Given the description of an element on the screen output the (x, y) to click on. 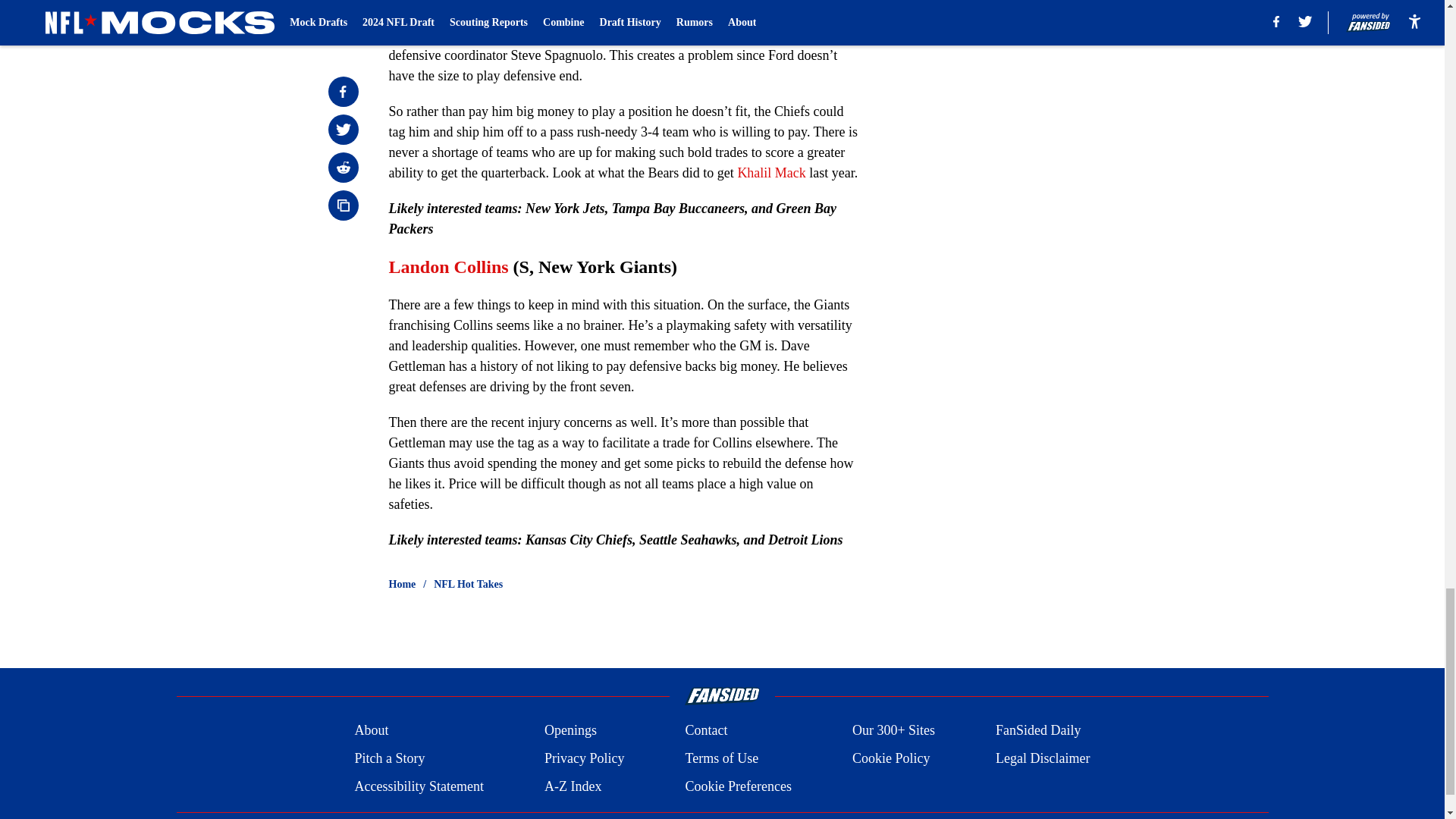
Contact (705, 730)
Home (401, 584)
Landon Collins (448, 266)
Pitch a Story (389, 758)
Khalil Mack (770, 172)
About (370, 730)
Openings (570, 730)
FanSided Daily (1038, 730)
NFL Hot Takes (467, 584)
Privacy Policy (584, 758)
